Given the description of an element on the screen output the (x, y) to click on. 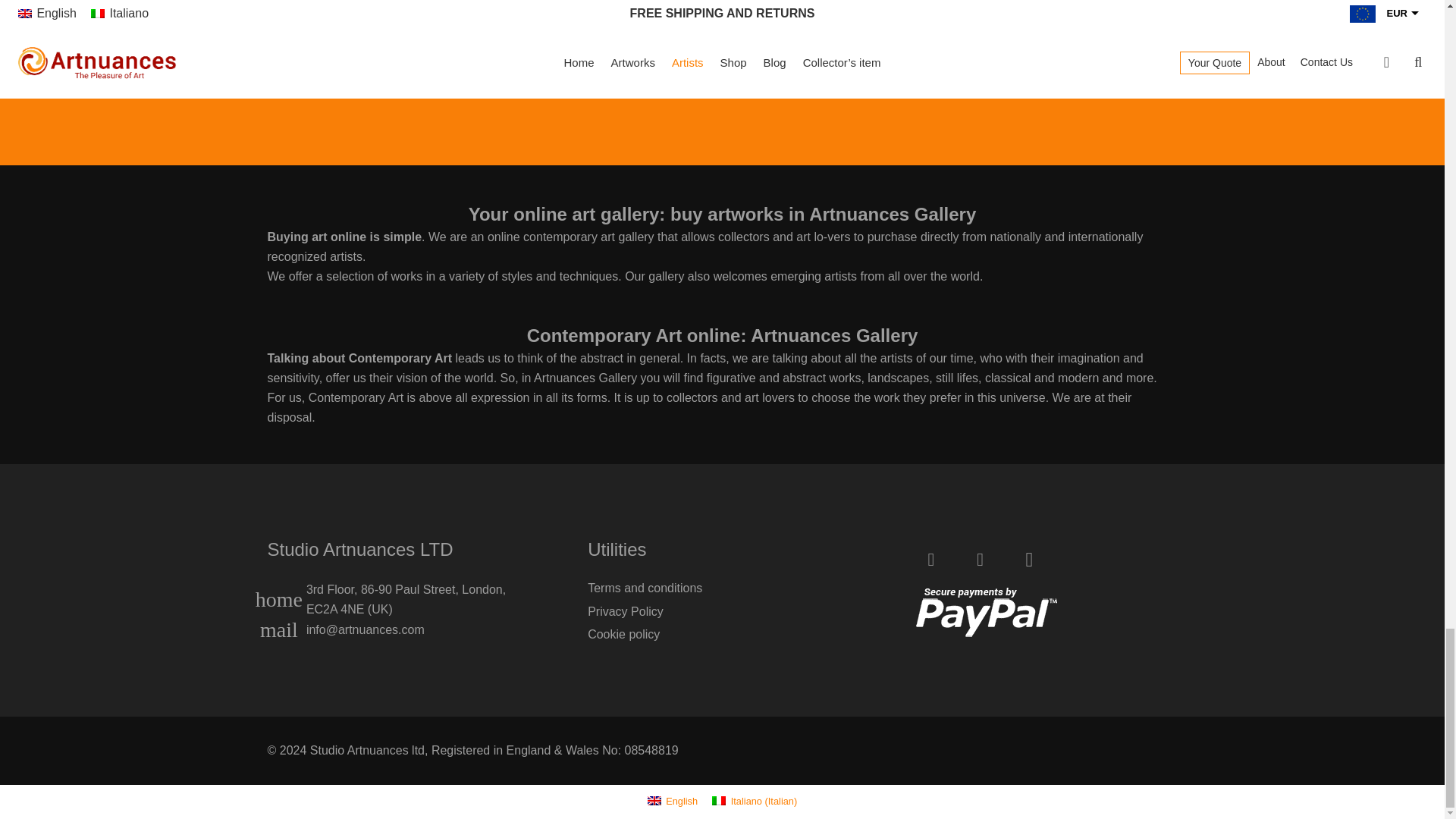
YouTube (980, 559)
Facebook (930, 559)
Instagram (1028, 559)
